Given the description of an element on the screen output the (x, y) to click on. 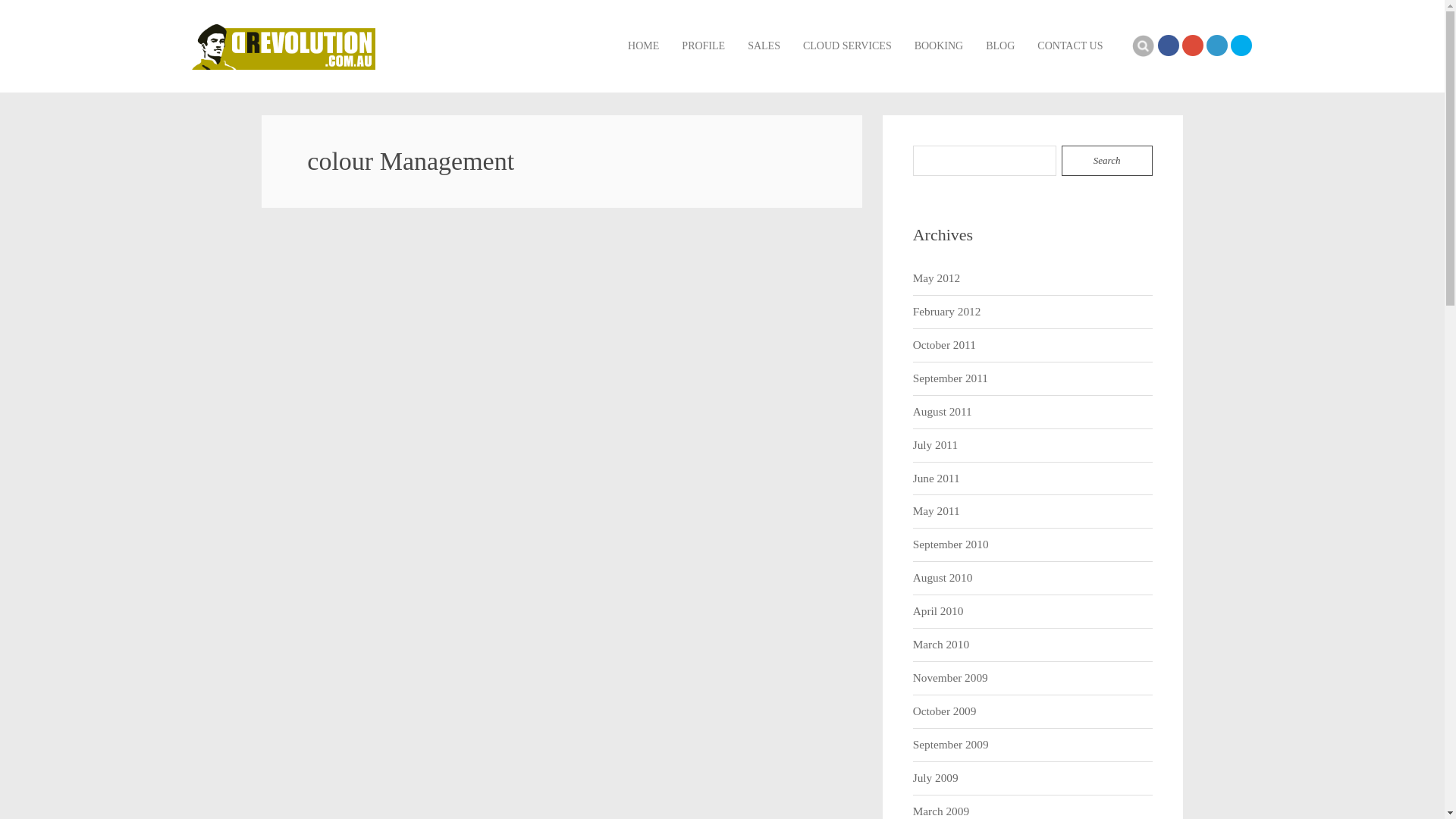
HOME Element type: text (642, 46)
August 2010 Element type: text (942, 577)
September 2010 Element type: text (950, 544)
Linkedin Element type: hover (1215, 45)
June 2011 Element type: text (936, 478)
August 2011 Element type: text (942, 411)
Google+ Element type: hover (1191, 45)
PROFILE Element type: text (702, 46)
May 2012 Element type: text (936, 278)
July 2011 Element type: text (935, 445)
Twitter Element type: hover (1240, 45)
Search Element type: text (1142, 45)
July 2009 Element type: text (935, 778)
October 2009 Element type: text (944, 711)
dRevolution Logo Element type: hover (283, 46)
October 2011 Element type: text (944, 345)
Search for: Element type: hover (985, 160)
November 2009 Element type: text (950, 678)
February 2012 Element type: text (947, 311)
May 2011 Element type: text (936, 511)
March 2010 Element type: text (941, 644)
Search Element type: text (1106, 160)
CLOUD SERVICES Element type: text (847, 46)
BOOKING Element type: text (938, 46)
BLOG Element type: text (999, 46)
September 2011 Element type: text (950, 378)
Facebook Element type: hover (1167, 45)
September 2009 Element type: text (950, 744)
SALES Element type: text (763, 46)
April 2010 Element type: text (938, 611)
CONTACT US Element type: text (1069, 46)
Skip to content Element type: text (627, 21)
